Given the description of an element on the screen output the (x, y) to click on. 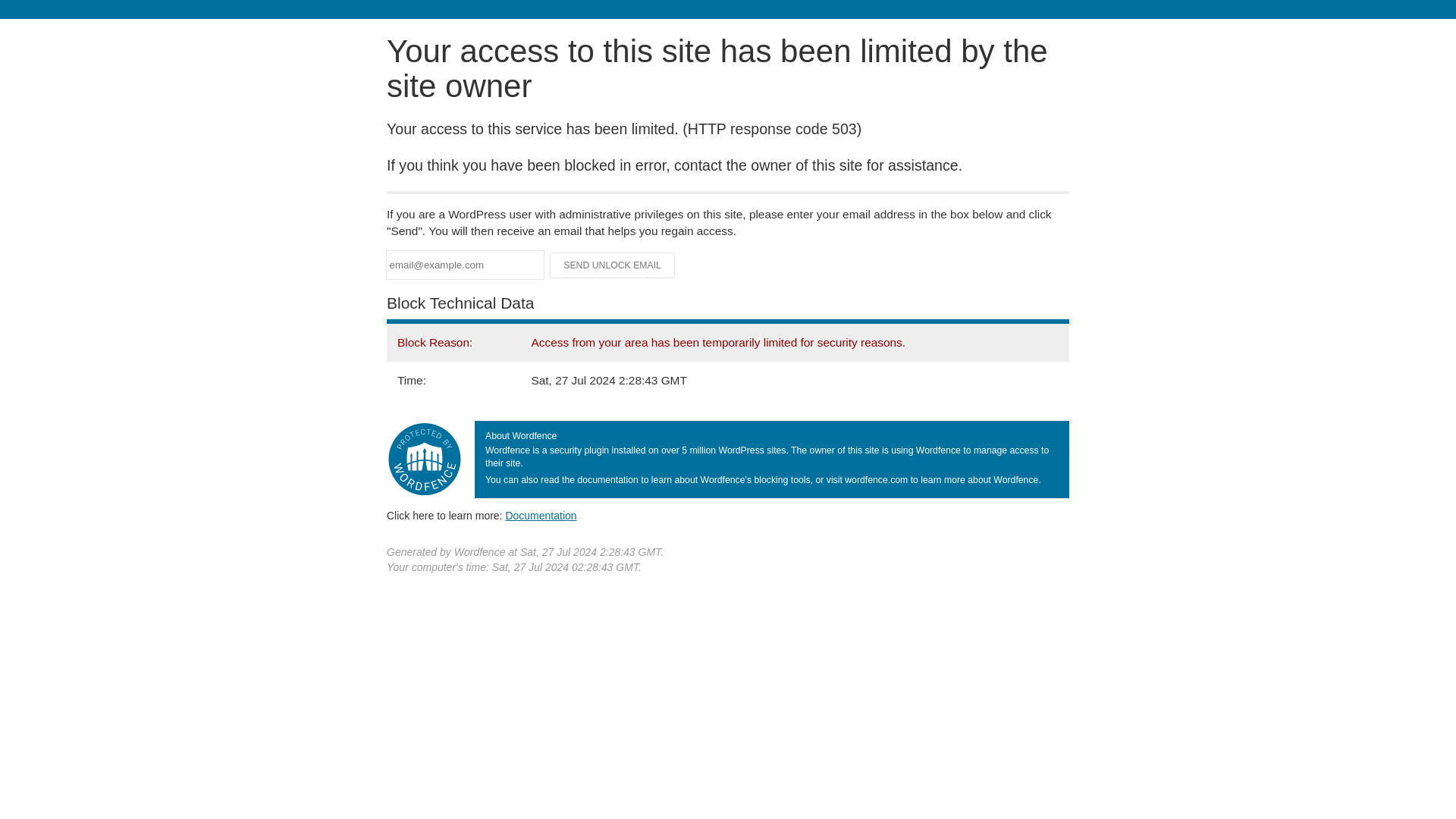
Send Unlock Email (612, 265)
Documentation (540, 515)
Send Unlock Email (612, 265)
